Given the description of an element on the screen output the (x, y) to click on. 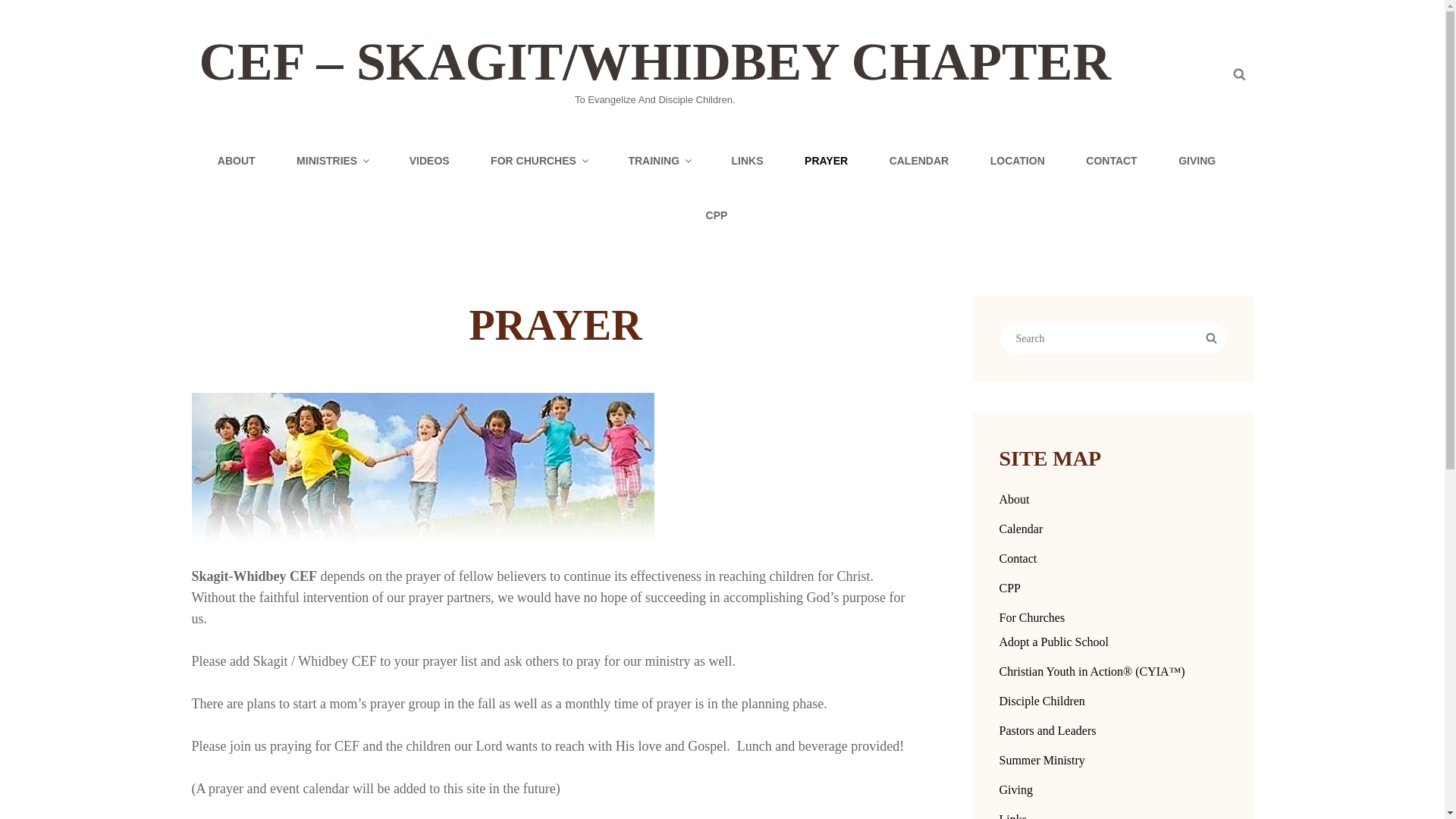
PRAYER (826, 160)
TRAINING (658, 160)
Contact (1017, 558)
CALENDAR (919, 160)
LINKS (748, 160)
MINISTRIES (332, 160)
About (1013, 499)
CONTACT (1111, 160)
ABOUT (236, 160)
CPP (1009, 587)
Calendar (1020, 528)
FOR CHURCHES (538, 160)
Search (1210, 338)
VIDEOS (429, 160)
LOCATION (1017, 160)
